Given the description of an element on the screen output the (x, y) to click on. 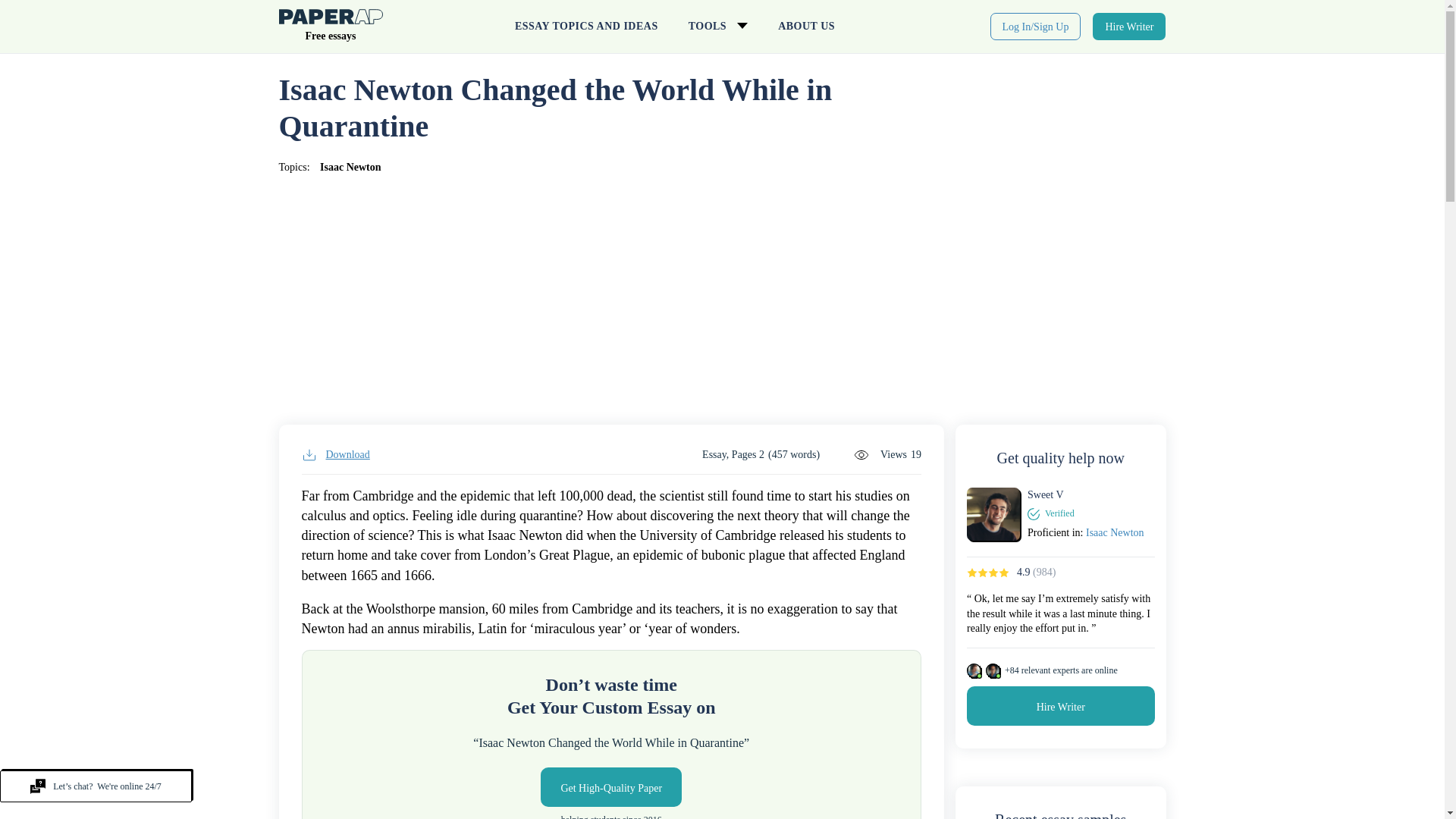
Isaac Newton (350, 166)
Hire Writer (1060, 705)
TOOLS (717, 26)
Get High-Quality Paper (610, 786)
ABOUT US (806, 26)
Download (335, 454)
ESSAY TOPICS AND IDEAS (585, 26)
Hire Writer (1129, 26)
Free essays (330, 29)
